Given the description of an element on the screen output the (x, y) to click on. 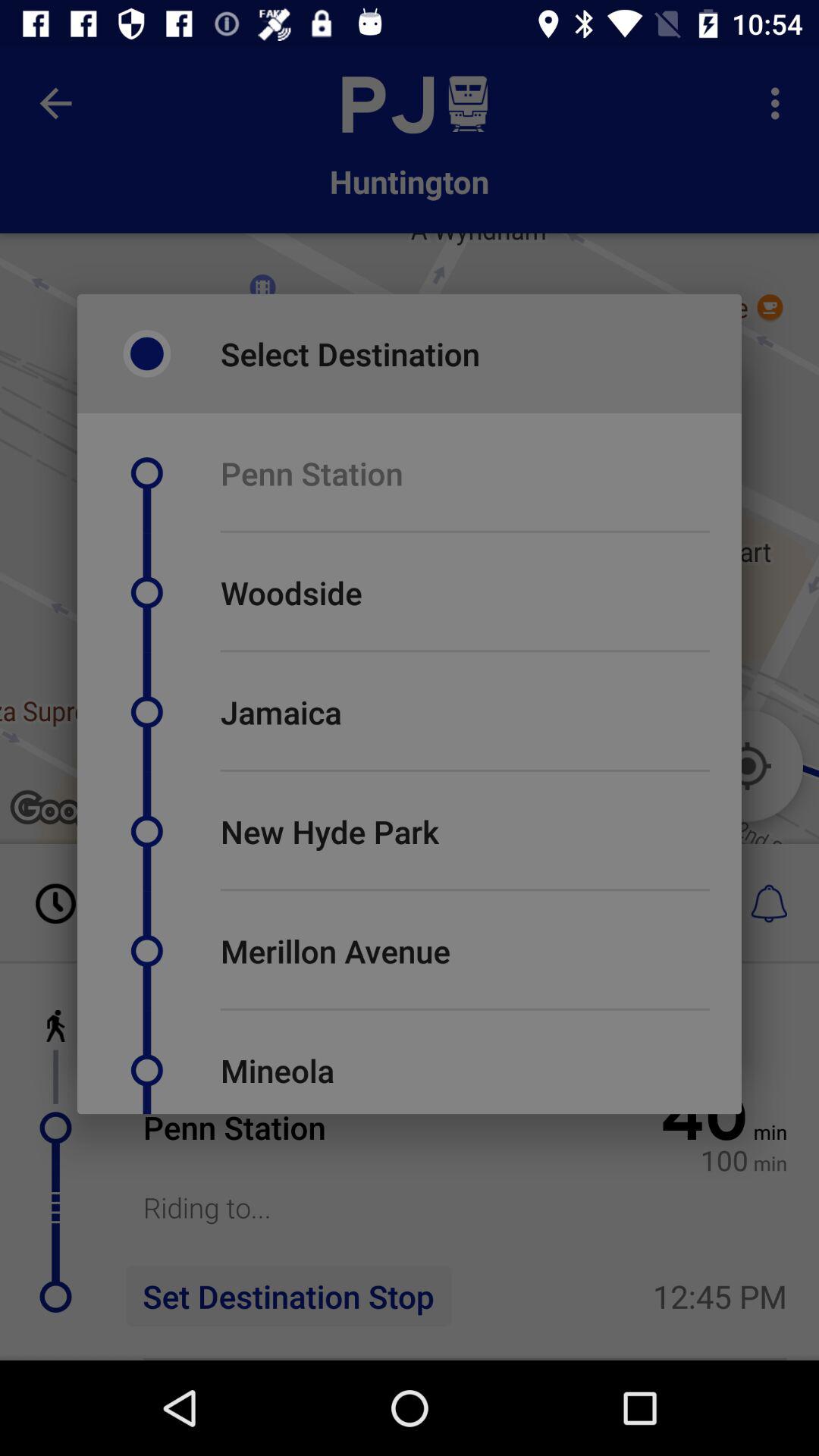
turn off the item above the mineola icon (464, 1009)
